Given the description of an element on the screen output the (x, y) to click on. 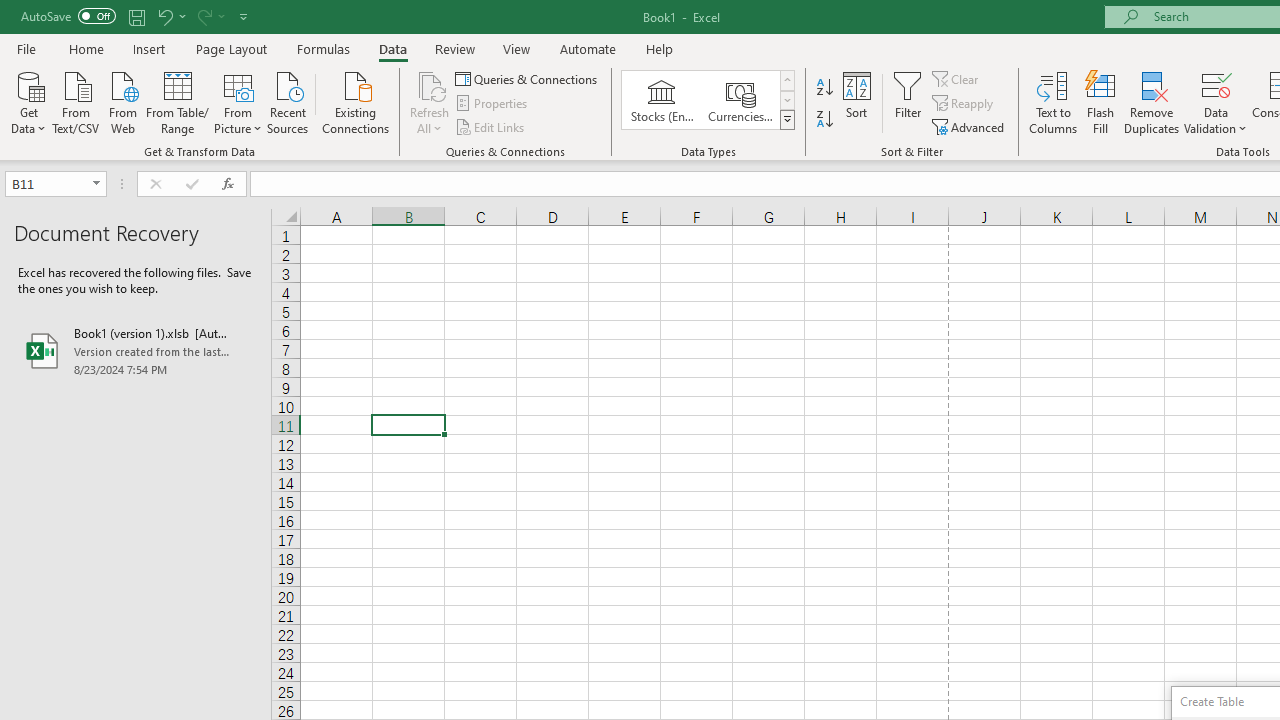
Properties (492, 103)
Data Types (786, 120)
Queries & Connections (527, 78)
